Given the description of an element on the screen output the (x, y) to click on. 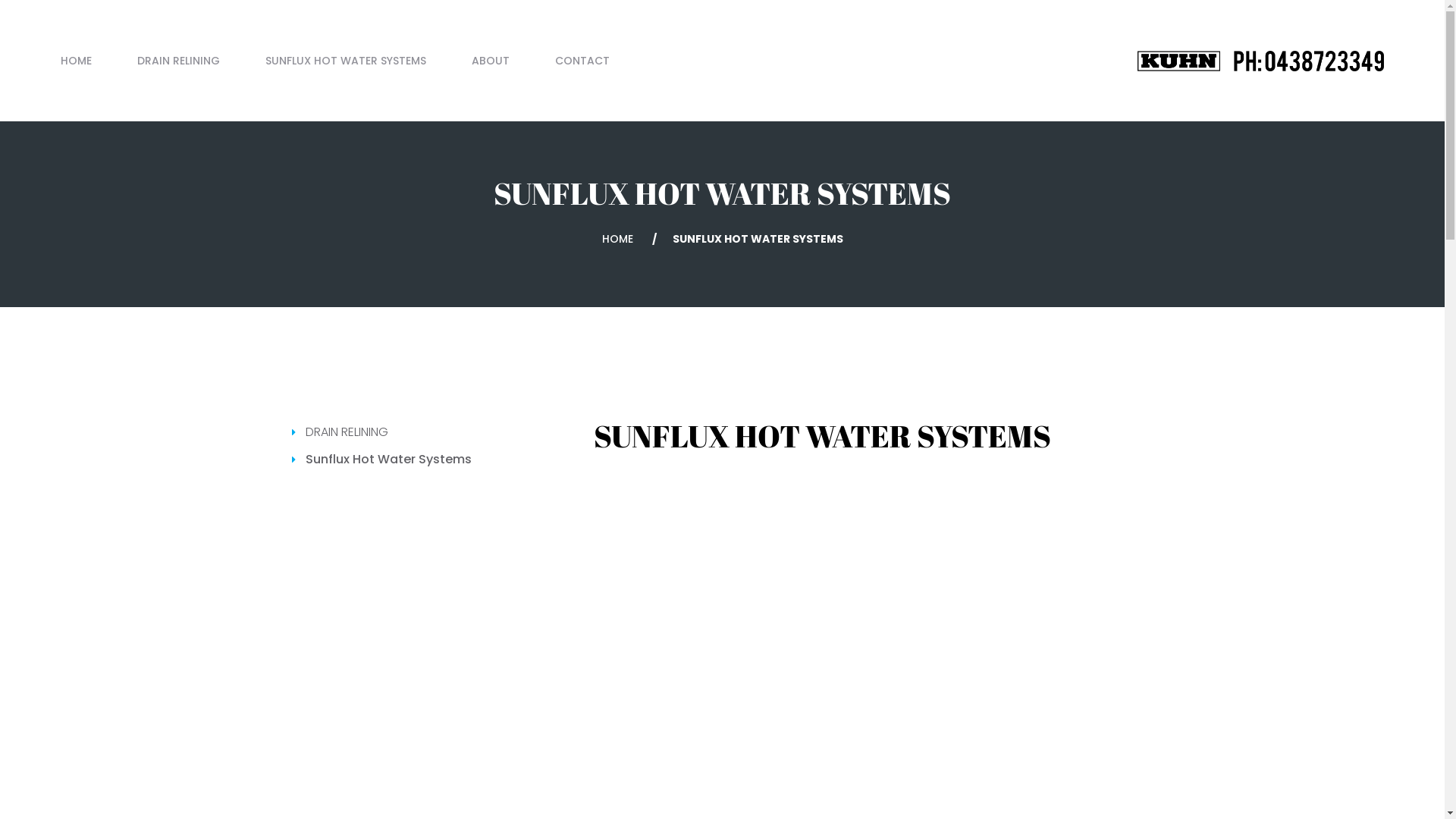
HOME Element type: text (87, 60)
Sunflux Hot Water Systems Element type: text (387, 458)
HOME Element type: text (617, 238)
SUNFLUX HOT WATER SYSTEMS Element type: text (345, 60)
CONTACT Element type: text (570, 60)
DRAIN RELINING Element type: text (345, 431)
DRAIN RELINING Element type: text (178, 60)
ABOUT Element type: text (490, 60)
